Given the description of an element on the screen output the (x, y) to click on. 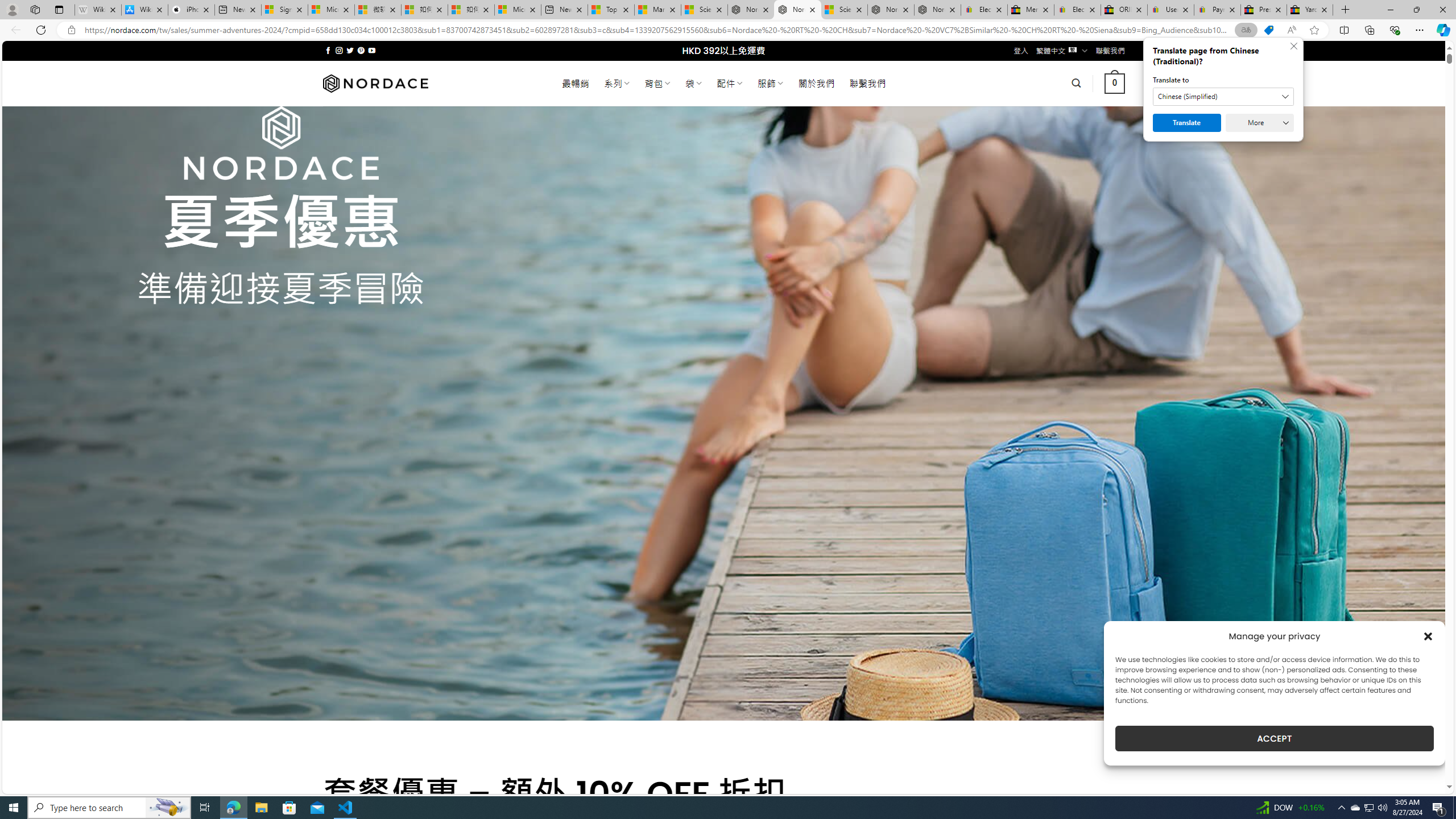
Class: cmplz-close (1428, 636)
Follow on Instagram (338, 50)
